Given the description of an element on the screen output the (x, y) to click on. 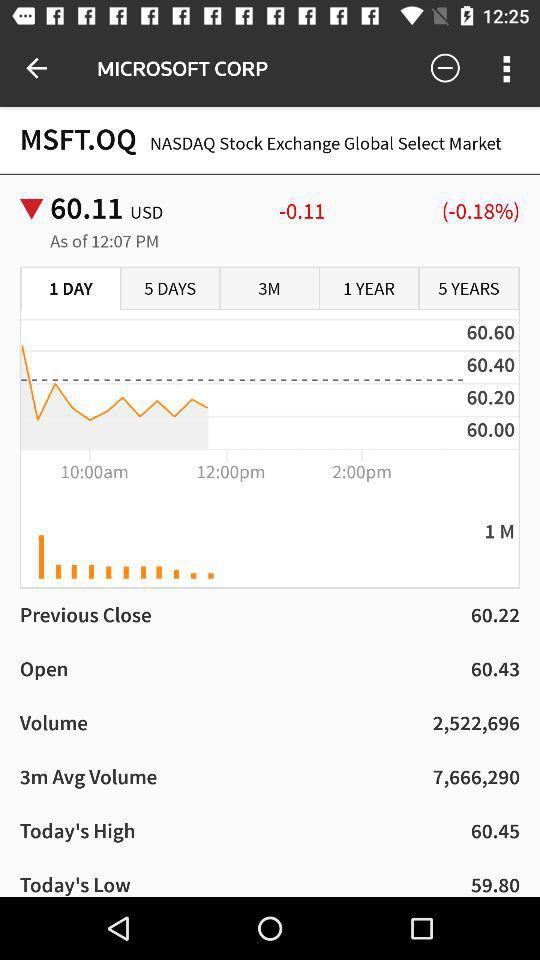
select the 1 year icon (369, 289)
